Given the description of an element on the screen output the (x, y) to click on. 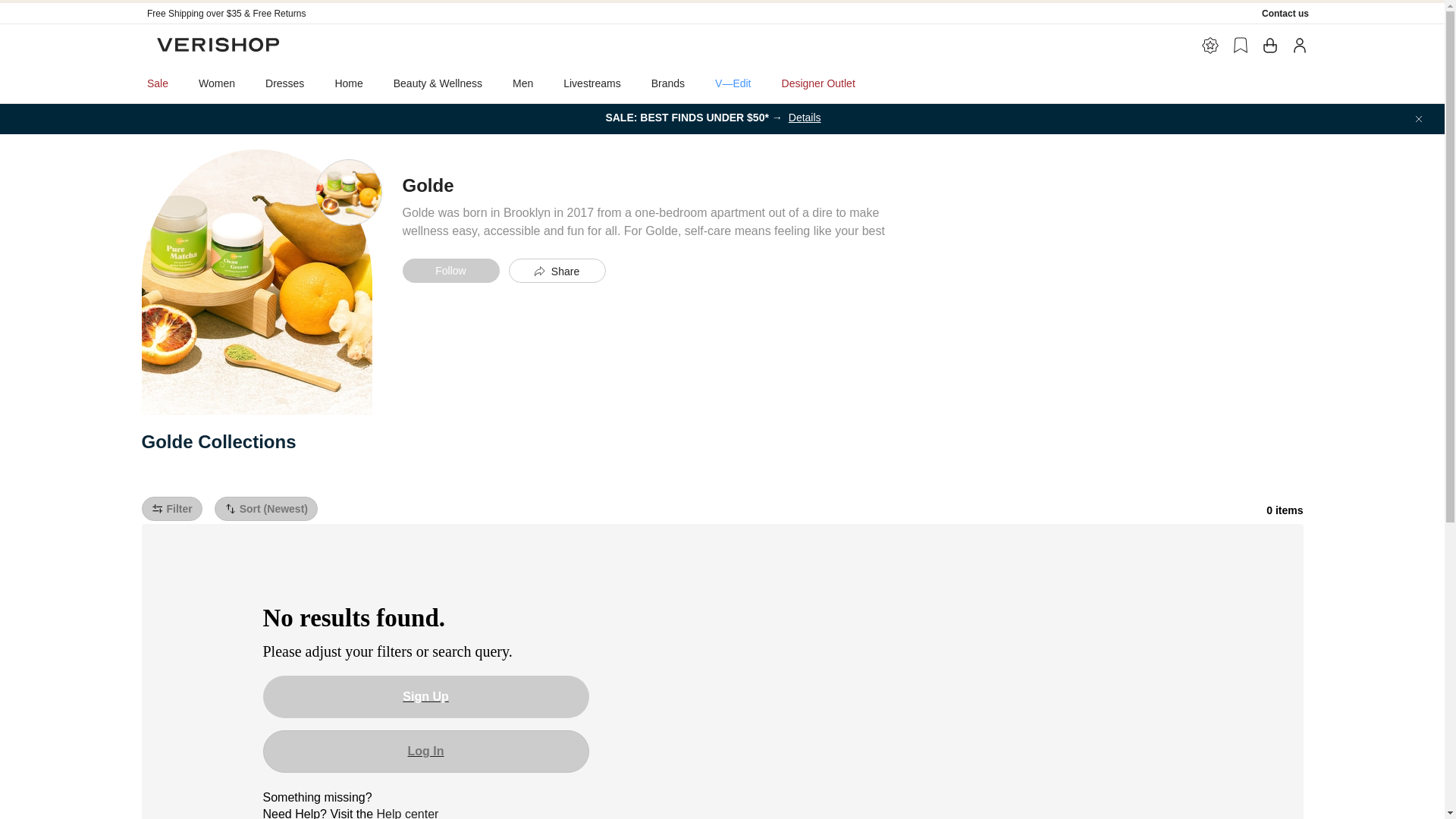
Filter (171, 508)
Contact us (1285, 13)
skip to main content (53, 6)
Dresses (284, 82)
Share (556, 270)
Contact us (1285, 13)
Help center (408, 813)
Designer Outlet (818, 82)
Brands (668, 82)
Livestreams (591, 82)
